Given the description of an element on the screen output the (x, y) to click on. 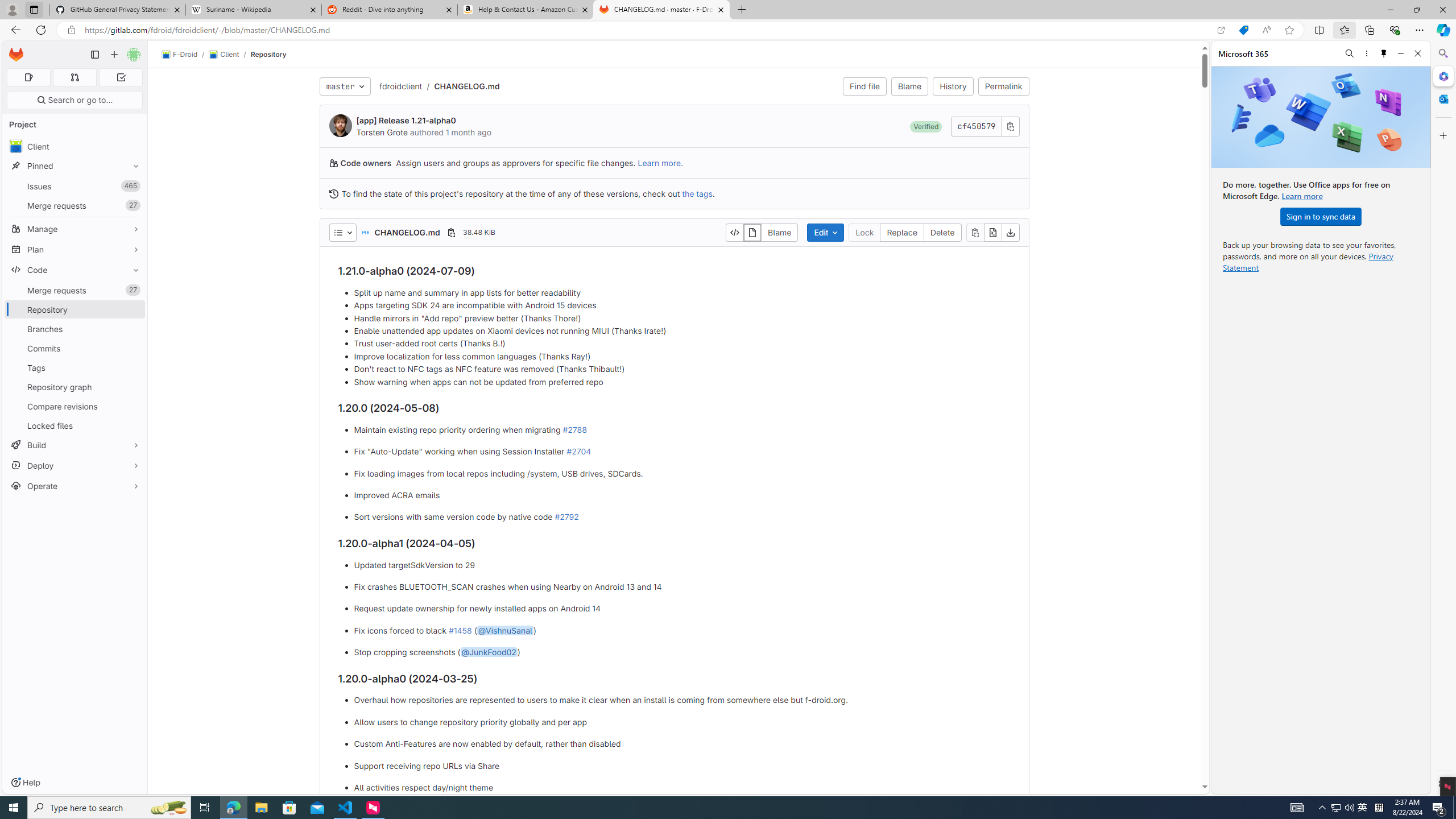
#2788 (574, 429)
Locked files (74, 425)
Tags (74, 367)
Operate (74, 485)
Improved ACRA emails (681, 495)
Primary navigation sidebar (94, 54)
Compare revisions (74, 406)
fdroidclient (400, 85)
Improve localization for less common languages (Thanks Ray!) (681, 356)
Support receiving repo URLs via Share (681, 765)
Class: s16 gl-mr-1 gl-align-text-bottom (333, 193)
